Given the description of an element on the screen output the (x, y) to click on. 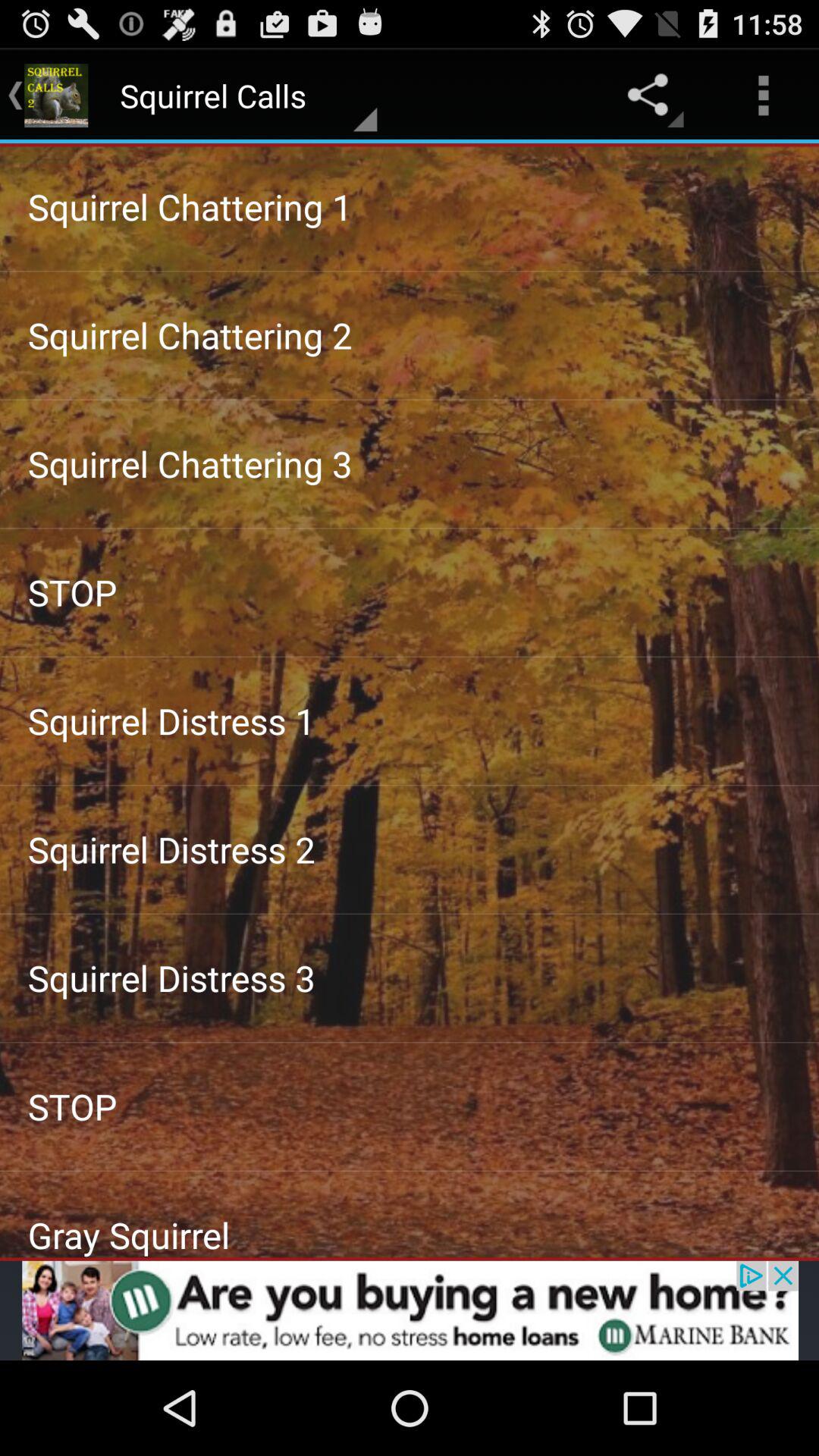
go to advertisement (409, 1310)
